Given the description of an element on the screen output the (x, y) to click on. 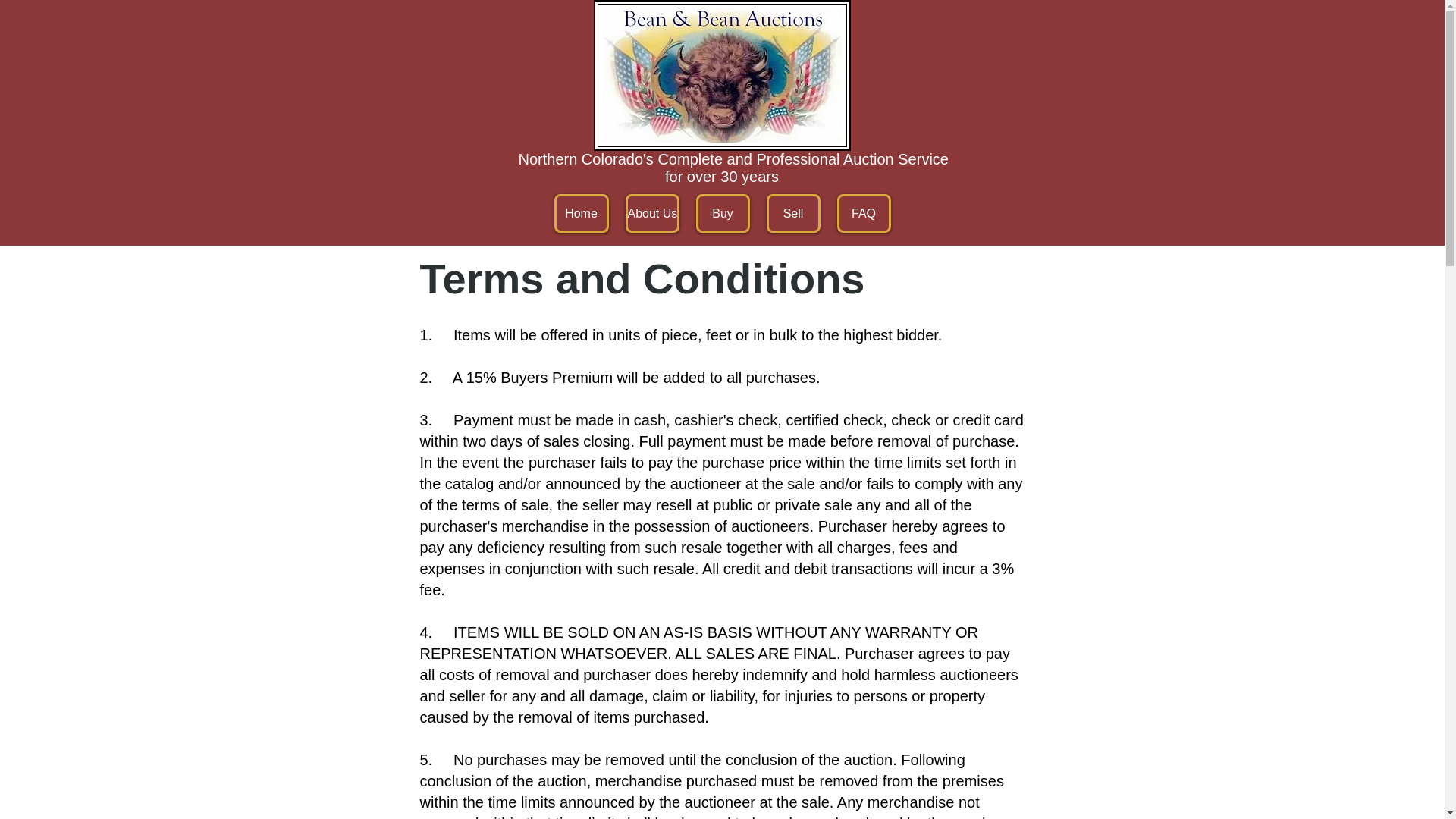
About Us (651, 213)
Sell (792, 213)
FAQ (864, 213)
Home (580, 213)
Buy (722, 213)
